Given the description of an element on the screen output the (x, y) to click on. 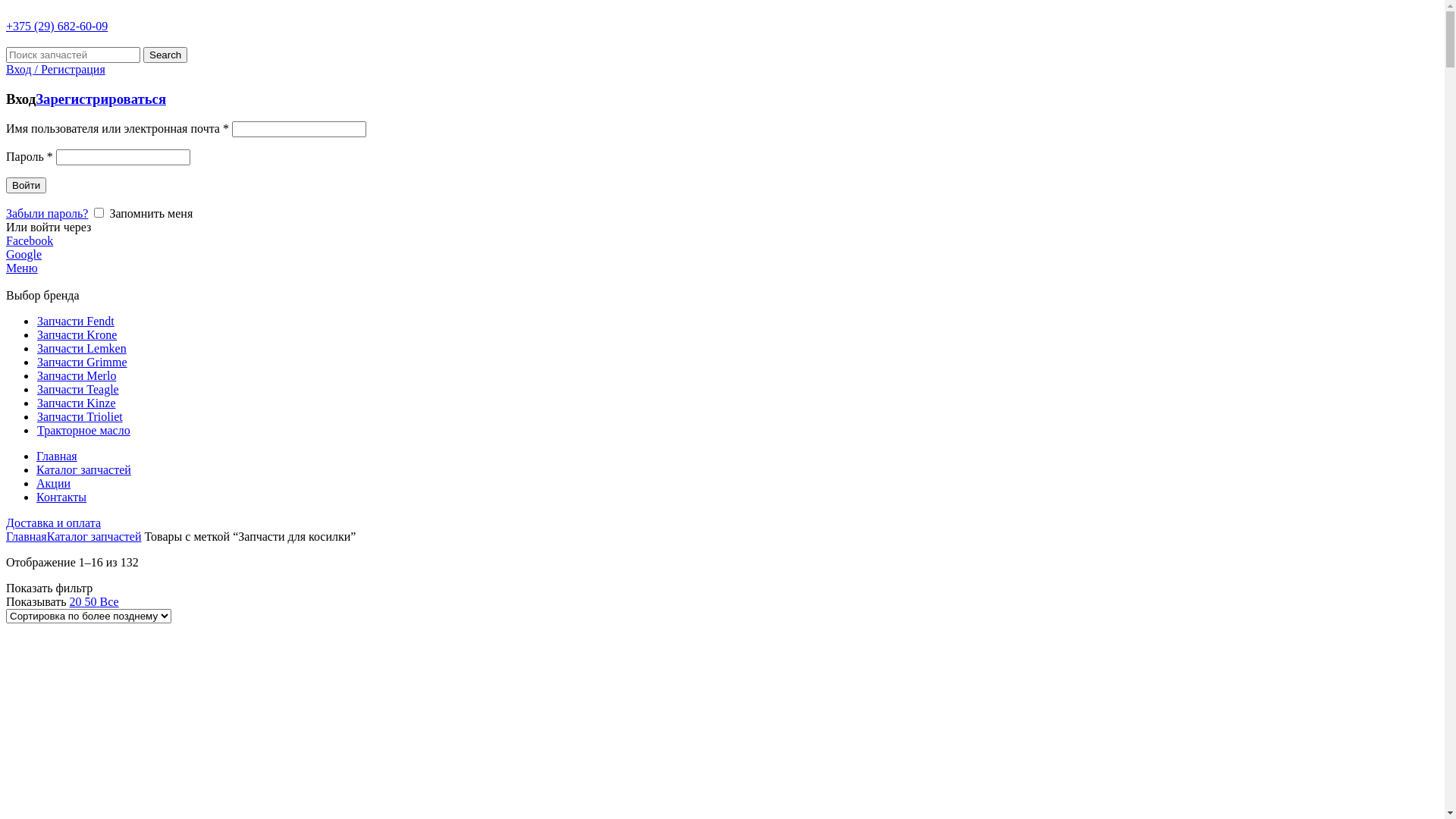
Search Element type: text (165, 54)
+375 (29) 682-60-09 Element type: text (56, 25)
20 Element type: text (76, 601)
Google Element type: text (23, 253)
Facebook Element type: text (29, 240)
50 Element type: text (92, 601)
